Given the description of an element on the screen output the (x, y) to click on. 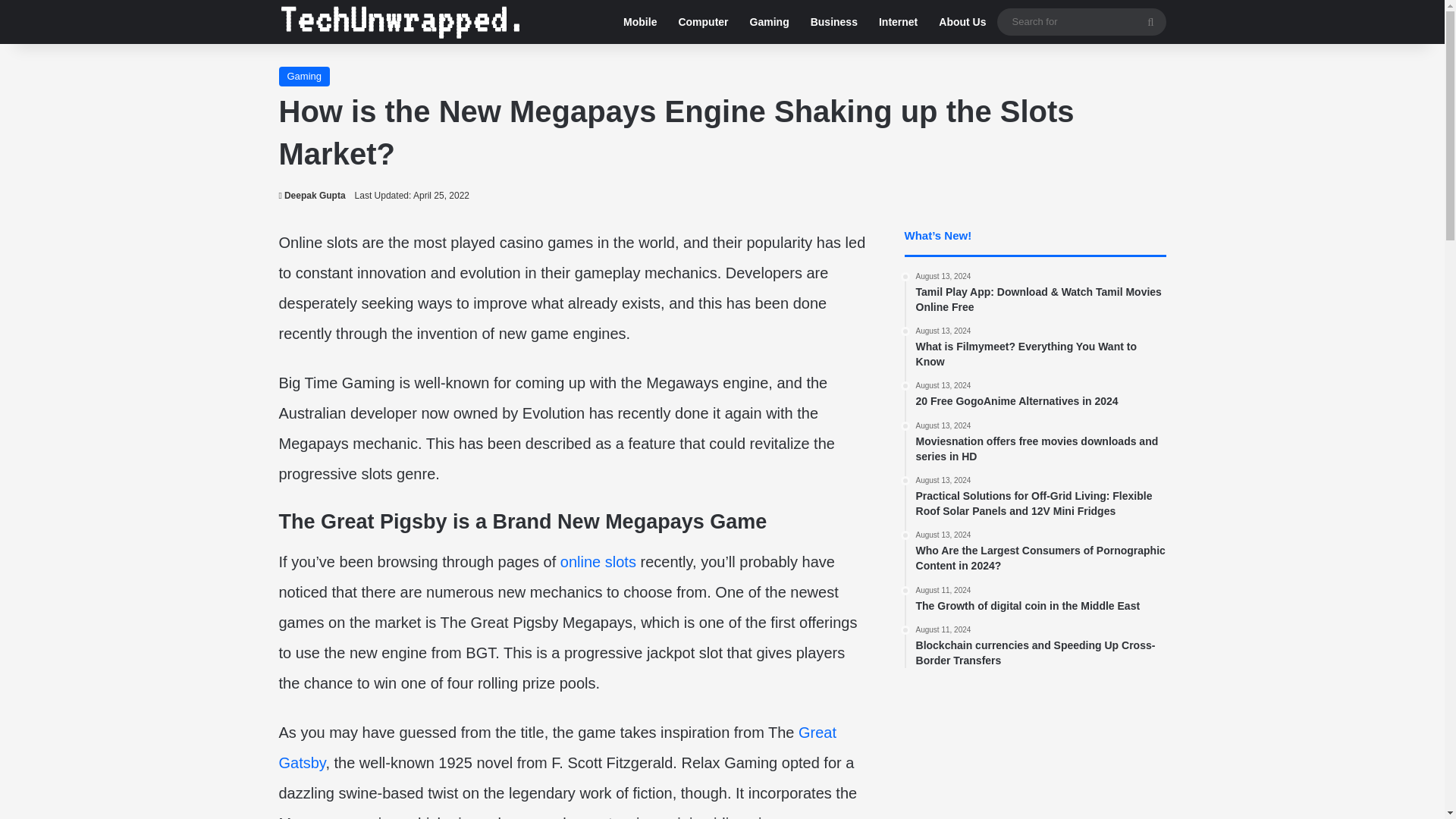
Deepak Gupta (312, 195)
Search for (1150, 22)
Computer (702, 22)
Great Gatsby (558, 747)
Internet (897, 22)
online slots (598, 561)
Business (833, 22)
Deepak Gupta (312, 195)
Gaming (769, 22)
